Given the description of an element on the screen output the (x, y) to click on. 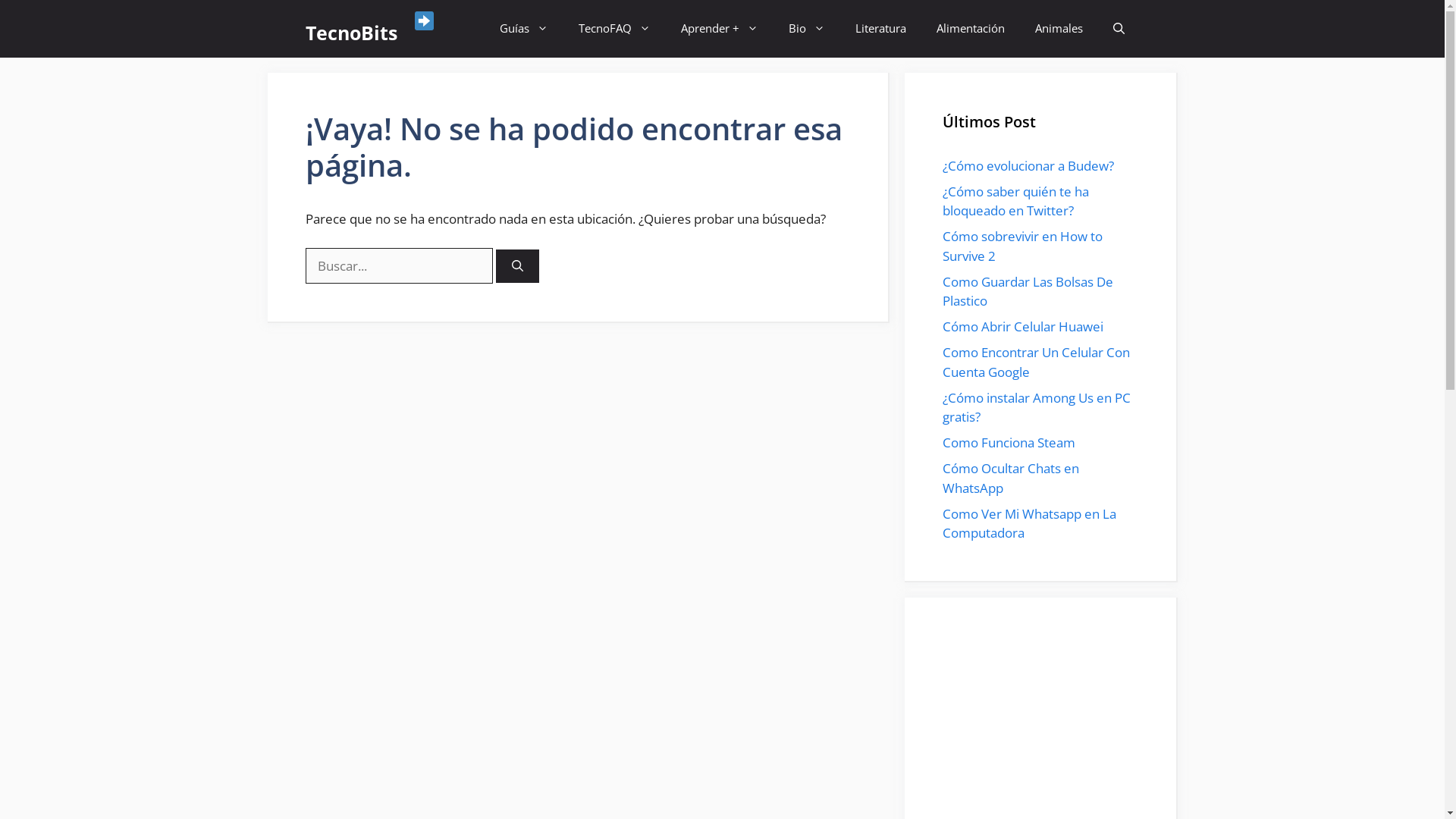
Animales Element type: text (1058, 28)
Como Ver Mi Whatsapp en La Computadora Element type: text (1028, 523)
Buscar: Element type: hover (398, 265)
Literatura Element type: text (880, 28)
Aprender + Element type: text (719, 28)
Bio Element type: text (806, 28)
Como Guardar Las Bolsas De Plastico Element type: text (1026, 291)
Como Encontrar Un Celular Con Cuenta Google Element type: text (1035, 361)
Como Funciona Steam Element type: text (1007, 442)
TecnoFAQ Element type: text (613, 28)
